Given the description of an element on the screen output the (x, y) to click on. 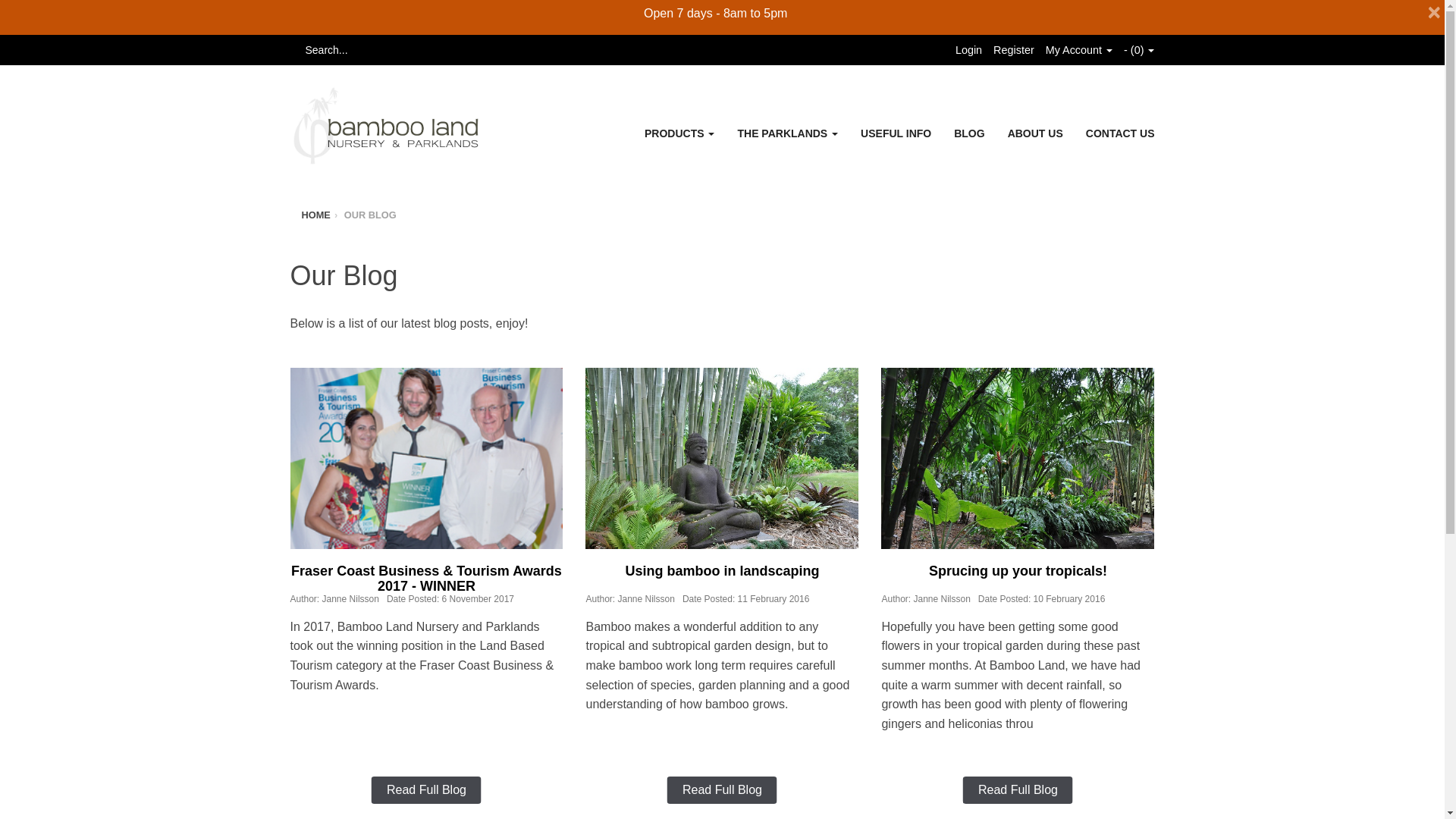
Register (1012, 50)
Login (968, 50)
Search (294, 49)
My Account (1078, 50)
Register (1012, 50)
PRODUCTS (679, 133)
Login (968, 50)
